Given the description of an element on the screen output the (x, y) to click on. 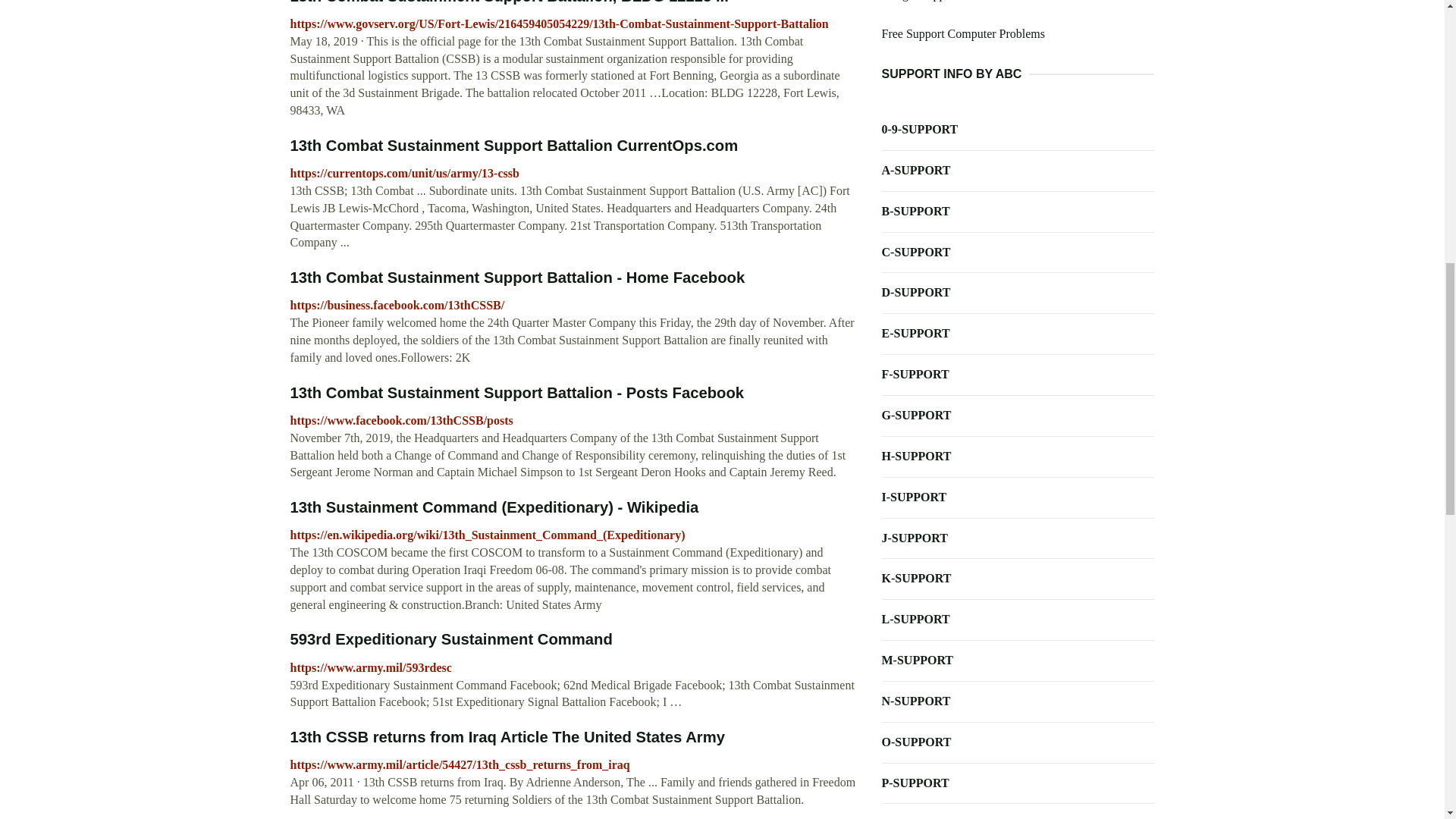
13th Combat Sustainment Support Battalion CurrentOps.com (513, 145)
593rd Expeditionary Sustainment Command (450, 638)
13th Combat Sustainment Support Battalion - Posts Facebook (516, 392)
13th Combat Sustainment Support Battalion - Home Facebook (516, 277)
13th CSSB returns from Iraq Article The United States Army (507, 736)
